Given the description of an element on the screen output the (x, y) to click on. 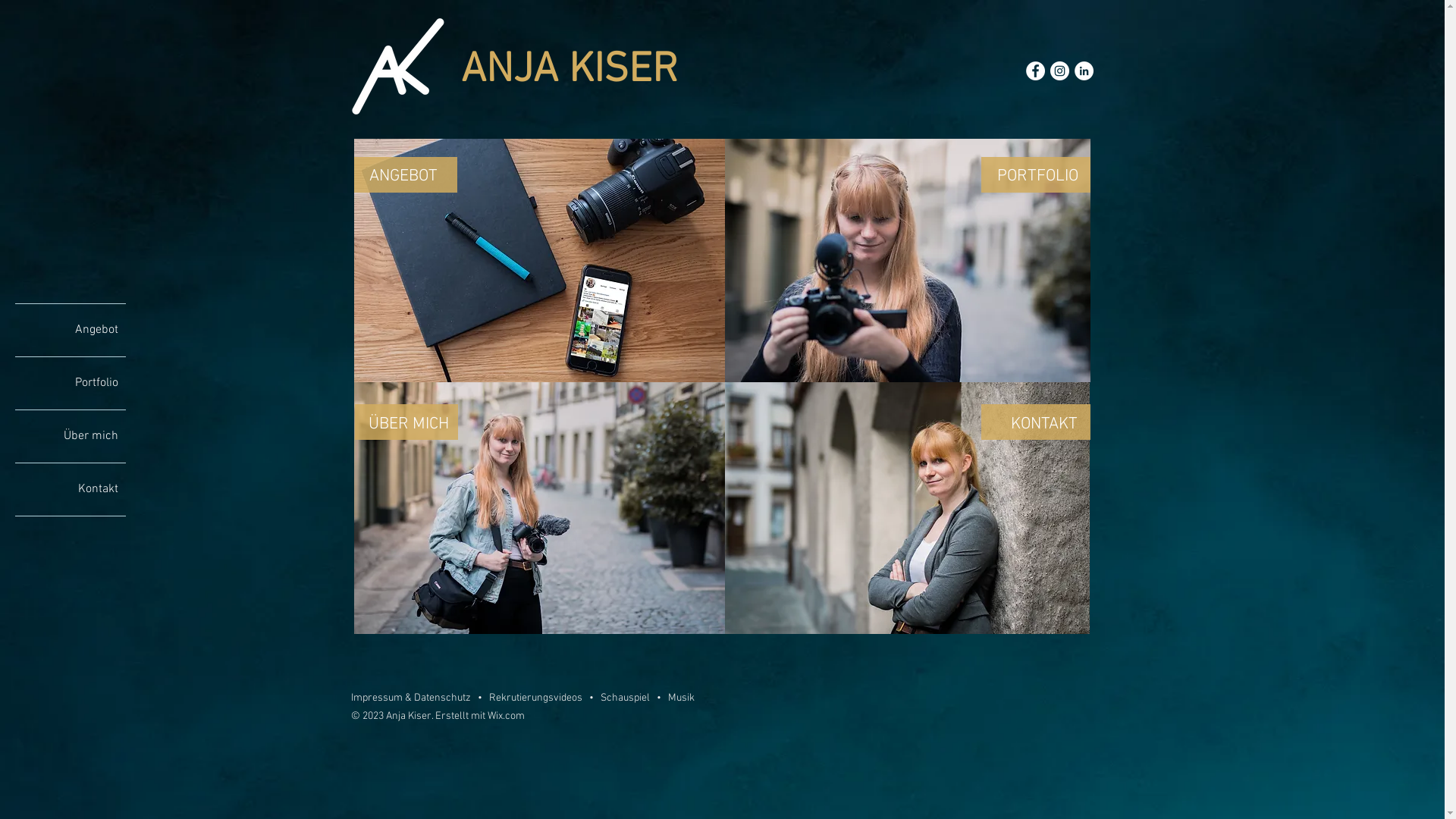
Wix.com Element type: text (505, 715)
Impressum & Datenschutz  Element type: text (411, 697)
Portfolio Element type: text (70, 382)
Rekrutierungsvideos Element type: text (534, 697)
PORTFOLIO Element type: text (1036, 176)
Angebot Element type: text (70, 329)
Musik Element type: text (680, 697)
ANGEBOT Element type: text (402, 176)
Schauspiel Element type: text (624, 697)
Kontakt Element type: text (70, 488)
KONTAKT Element type: text (1043, 424)
  Element type: text (664, 697)
ANJA KISER Element type: text (569, 70)
    Element type: text (652, 697)
